Given the description of an element on the screen output the (x, y) to click on. 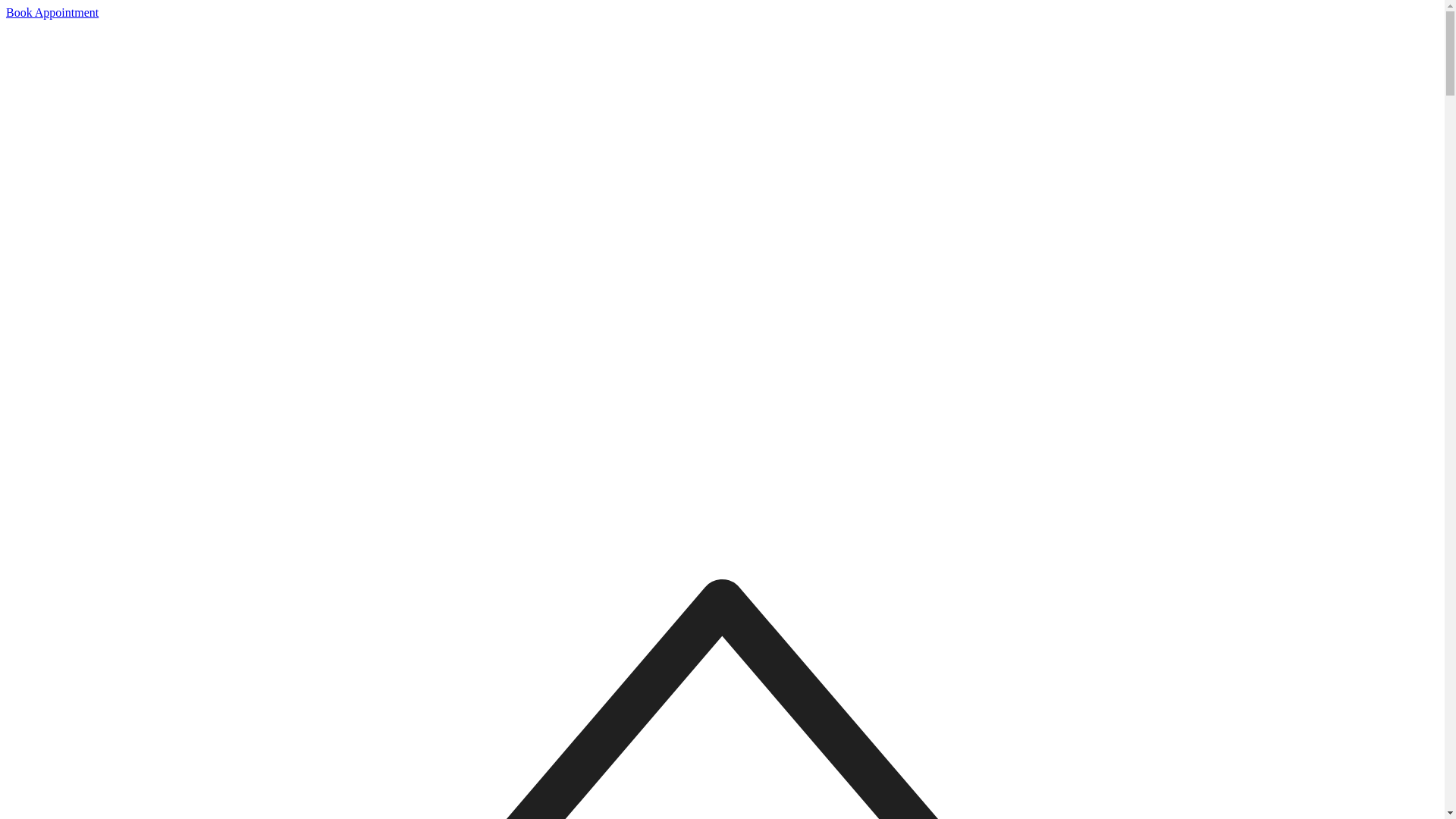
Book Appointment Element type: text (52, 12)
